Given the description of an element on the screen output the (x, y) to click on. 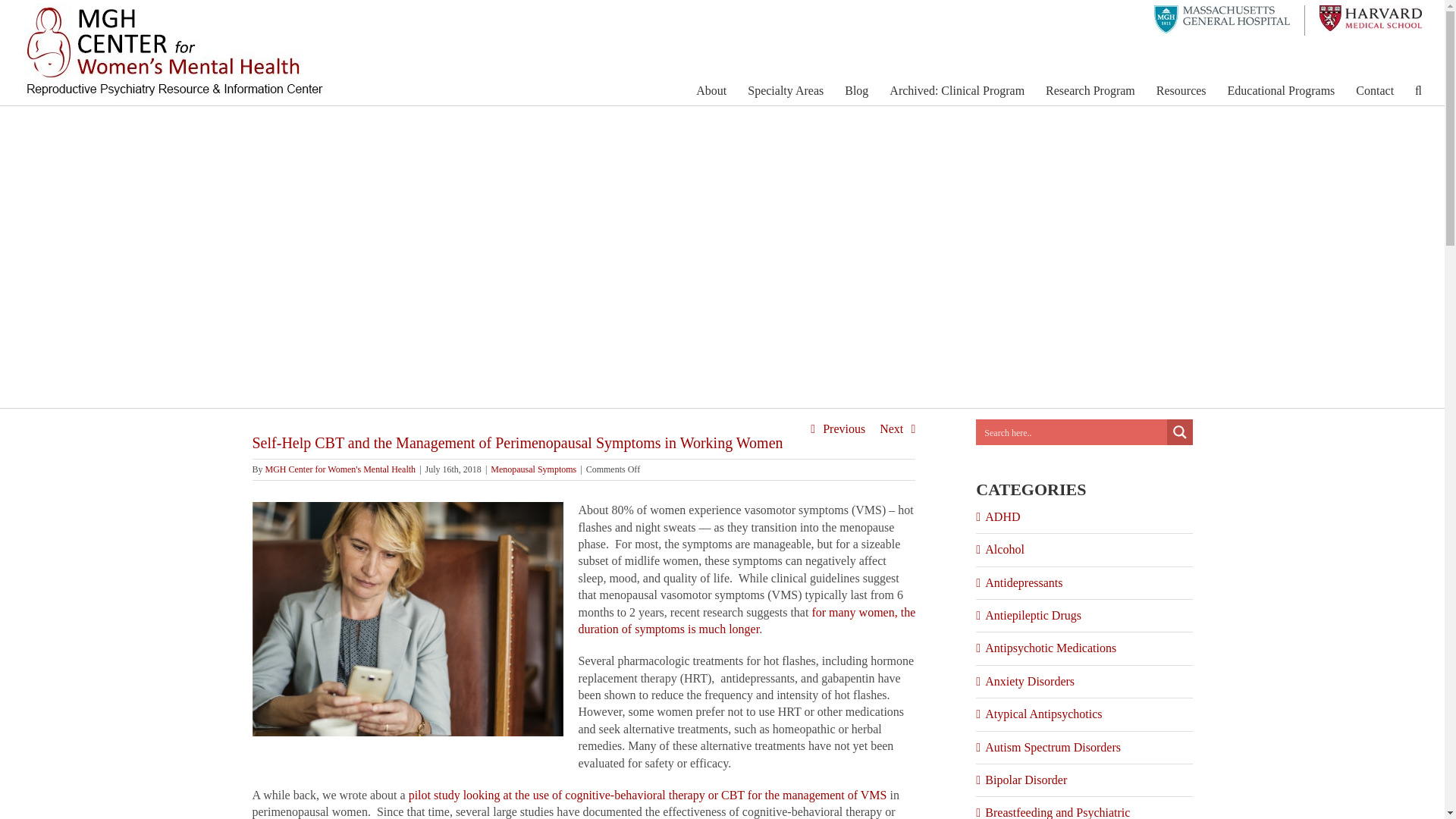
Resources (1181, 90)
Posts by MGH Center for Women's Mental Health (340, 469)
Specialty Areas (786, 90)
Archived: Clinical Program (957, 90)
Research Program (1090, 90)
About (710, 90)
Businesswoman working remotely from a cafe (406, 619)
